Given the description of an element on the screen output the (x, y) to click on. 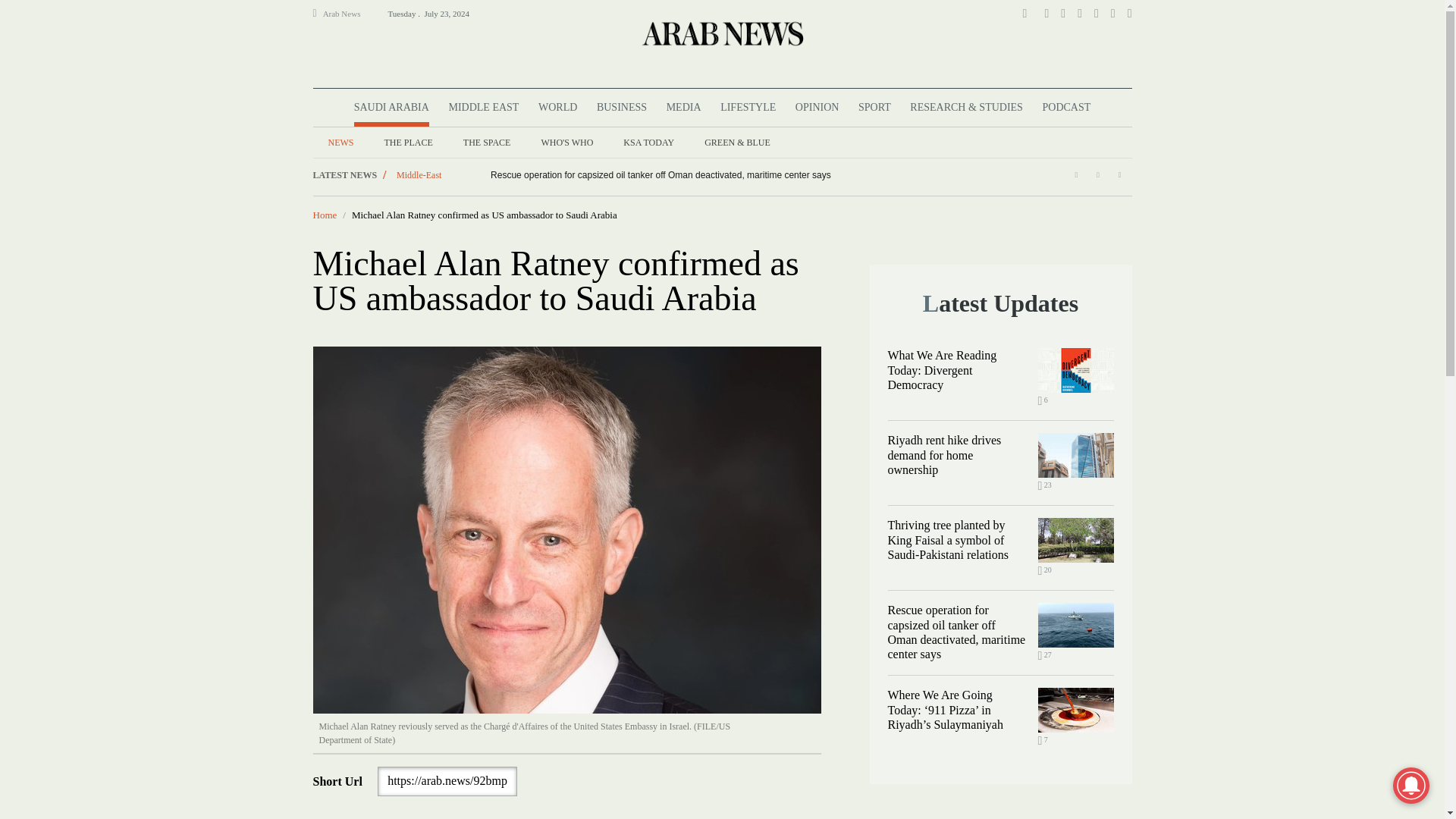
Arabnews (721, 33)
Riyadh rent hike drives demand for home ownership (1074, 455)
What We Are Reading Today: Divergent Democracy (1074, 370)
Arab News (348, 13)
